Given the description of an element on the screen output the (x, y) to click on. 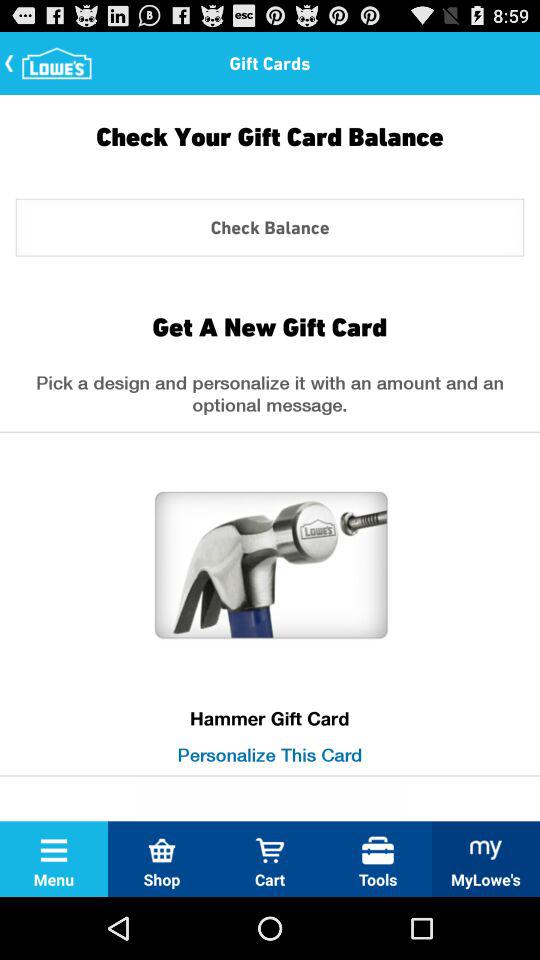
scroll to the pick a design icon (270, 399)
